Given the description of an element on the screen output the (x, y) to click on. 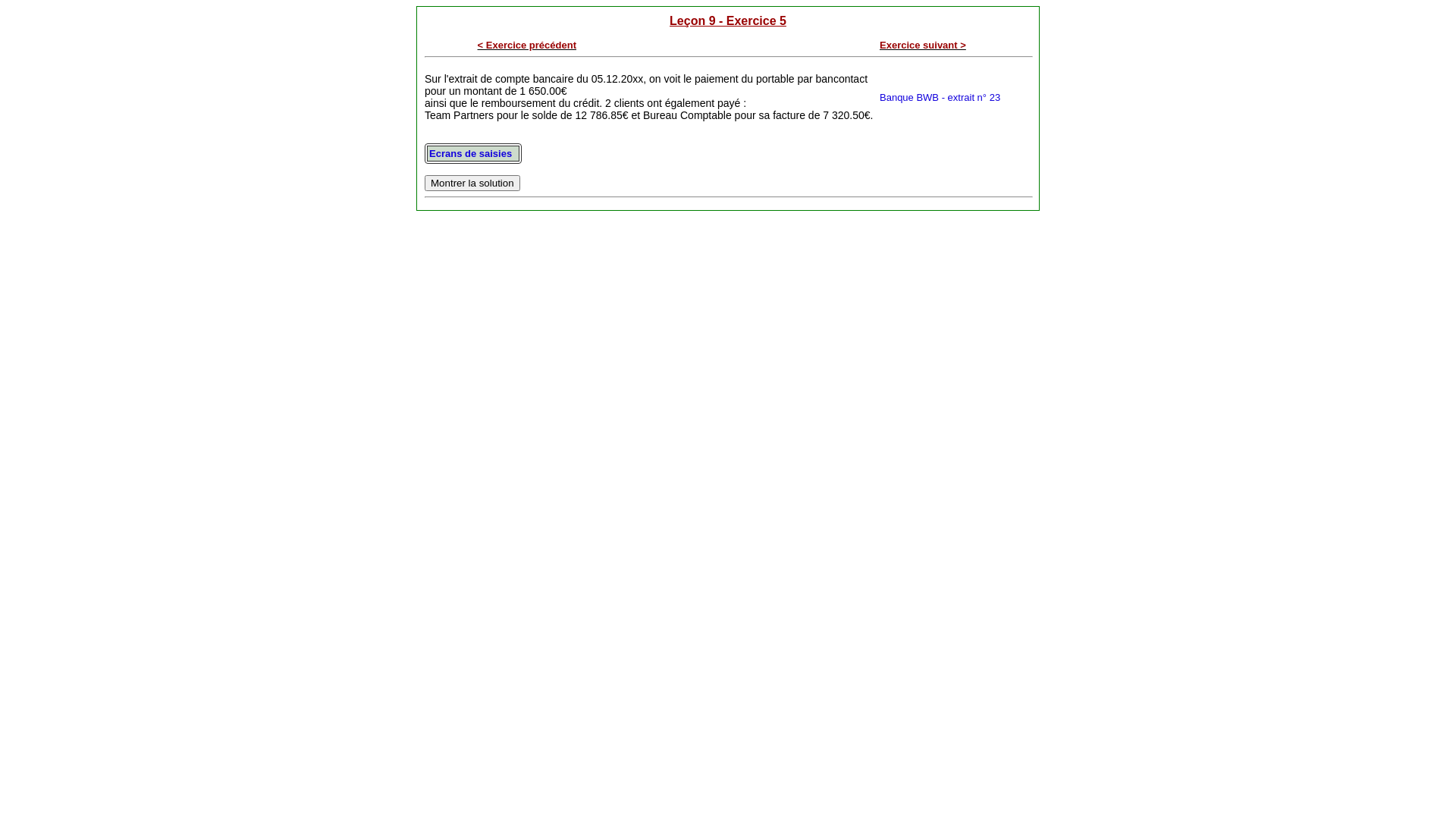
Exercice suivant > Element type: text (922, 44)
Montrer la solution Element type: text (472, 183)
Ecrans de saisies Element type: text (470, 153)
